Given the description of an element on the screen output the (x, y) to click on. 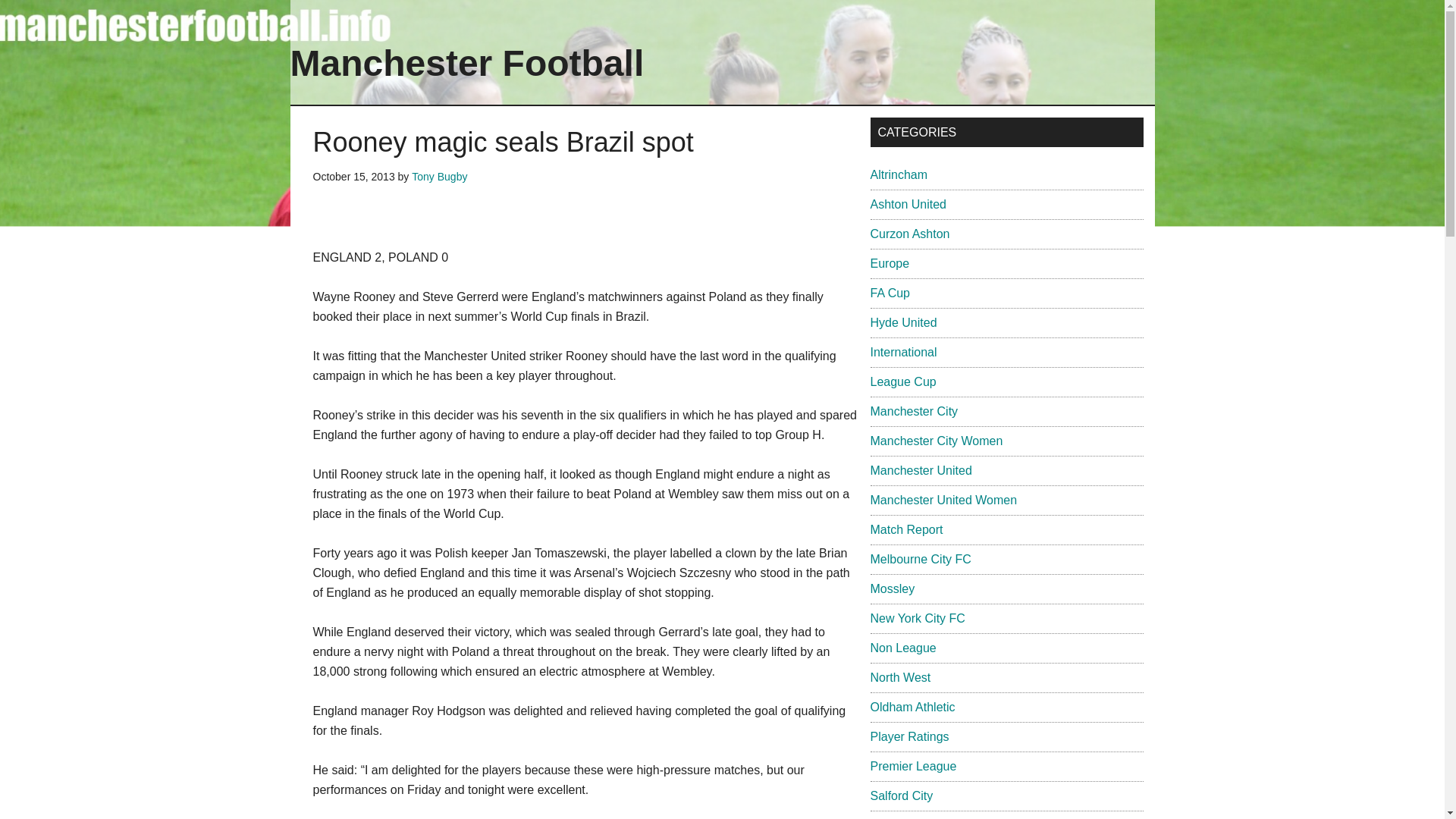
Oldham Athletic (912, 707)
Tony Bugby (439, 176)
North West (900, 676)
Match Report (906, 529)
Manchester City (914, 410)
Mossley (892, 588)
Melbourne City FC (920, 558)
League Cup (903, 381)
Premier League (913, 766)
International (903, 351)
